Given the description of an element on the screen output the (x, y) to click on. 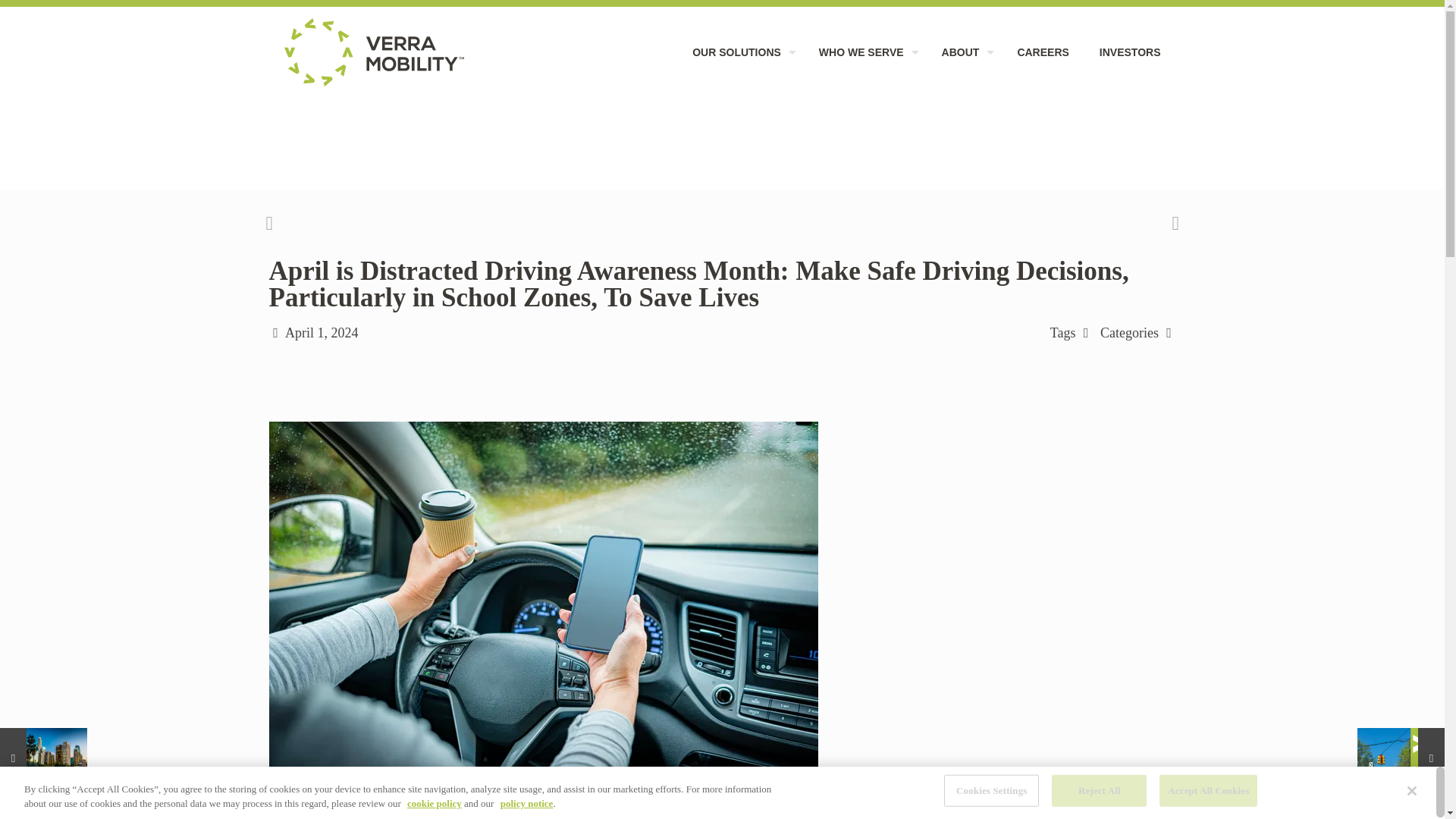
WHO WE SERVE (864, 51)
Verra Mobility (373, 51)
OUR SOLUTIONS (740, 51)
